Given the description of an element on the screen output the (x, y) to click on. 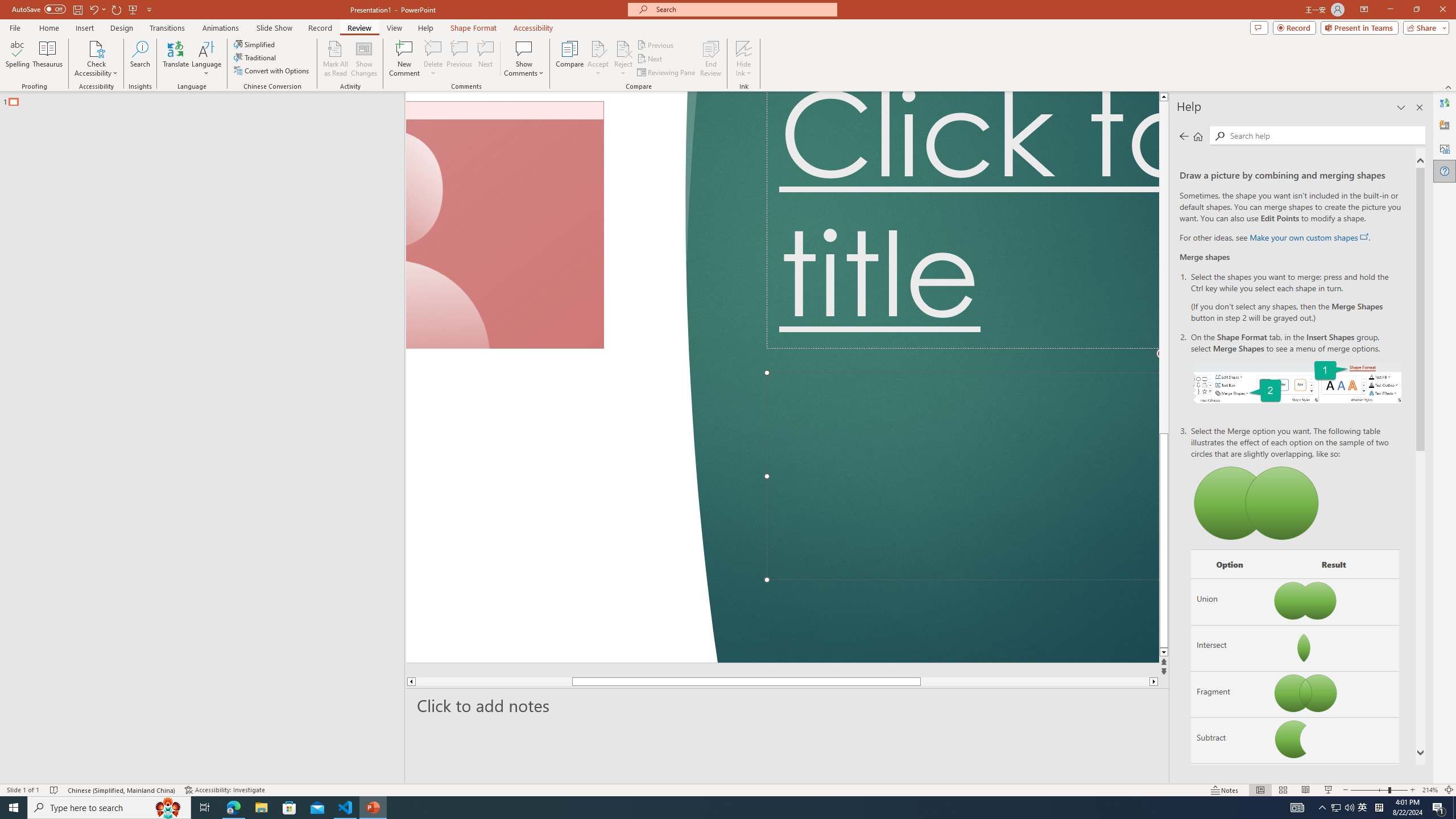
Show Changes (363, 58)
Subtitle TextBox (962, 476)
Subtract (1229, 740)
